Given the description of an element on the screen output the (x, y) to click on. 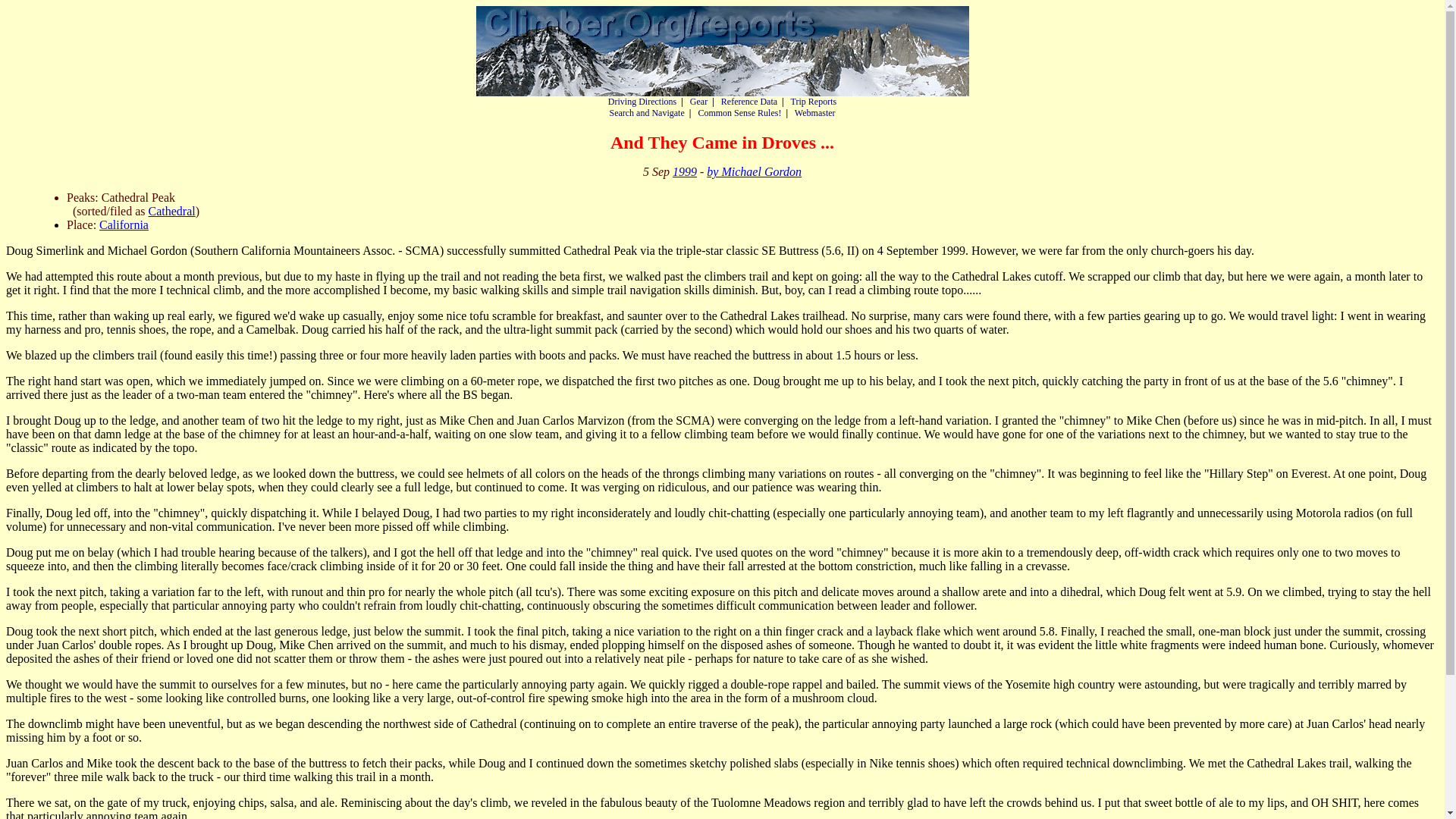
Common Sense Rules! (738, 112)
Gear (698, 101)
California (123, 224)
Search and Navigate (646, 112)
Webmaster (814, 112)
Trip Reports (813, 101)
Cathedral (171, 210)
by Michael Gordon (754, 171)
Climber.Org Home Page (722, 50)
Reference Data (748, 101)
Driving Directions (642, 101)
1999 (684, 171)
